Given the description of an element on the screen output the (x, y) to click on. 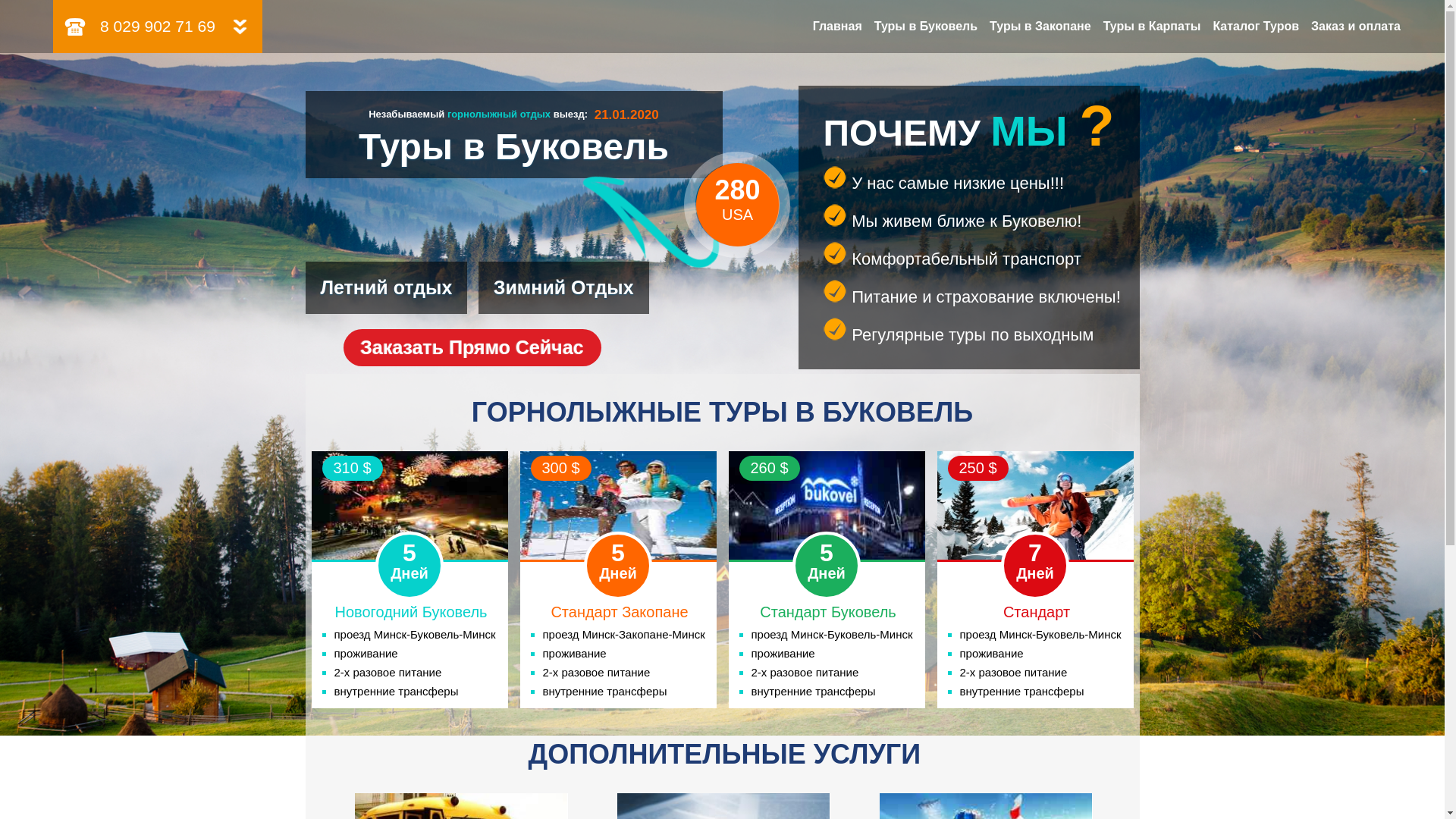
8 029 902 71 69 Element type: text (157, 26)
